Given the description of an element on the screen output the (x, y) to click on. 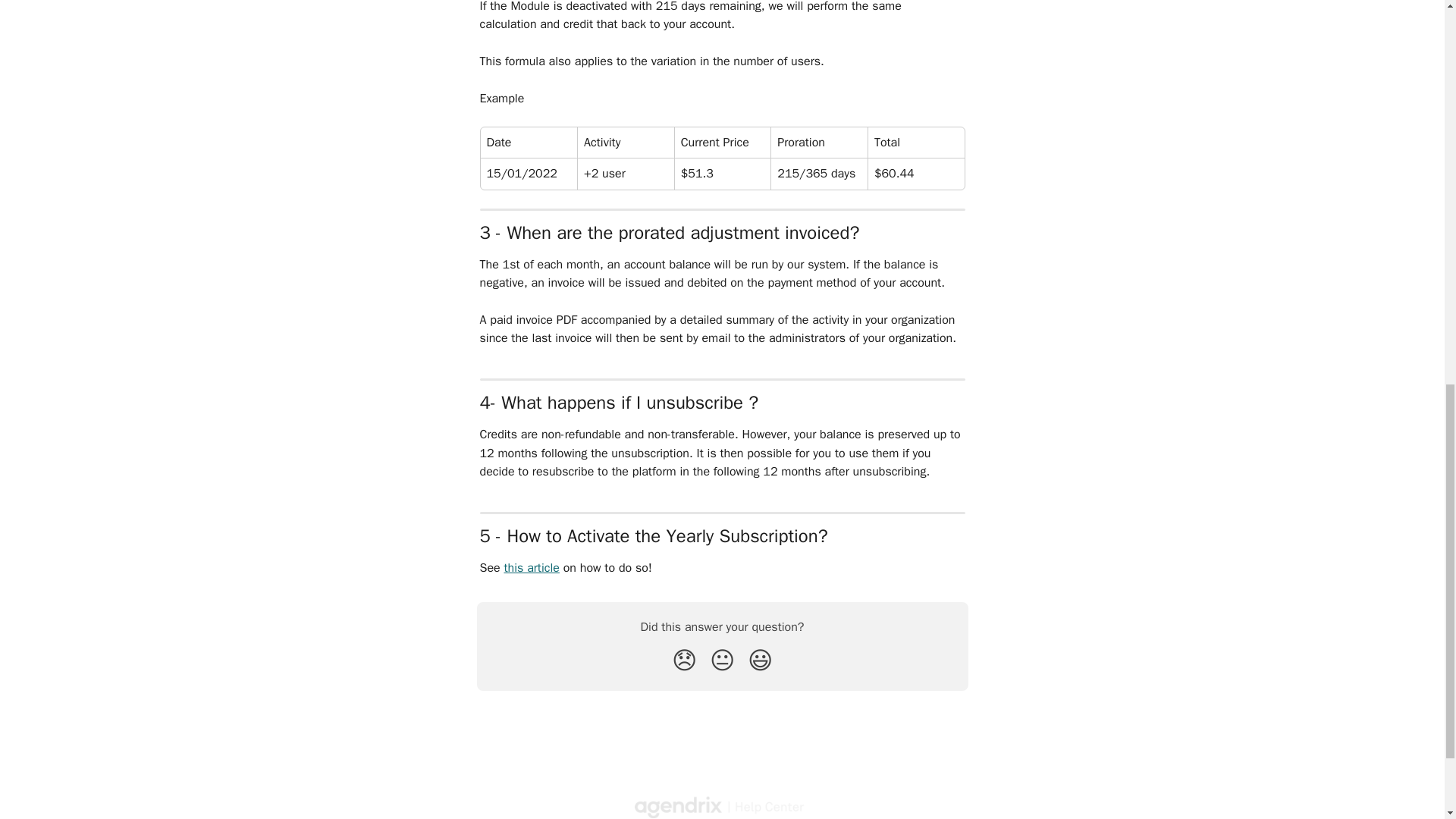
Neutral (722, 660)
this article (531, 567)
Smiley (760, 660)
Disappointed (684, 660)
